Given the description of an element on the screen output the (x, y) to click on. 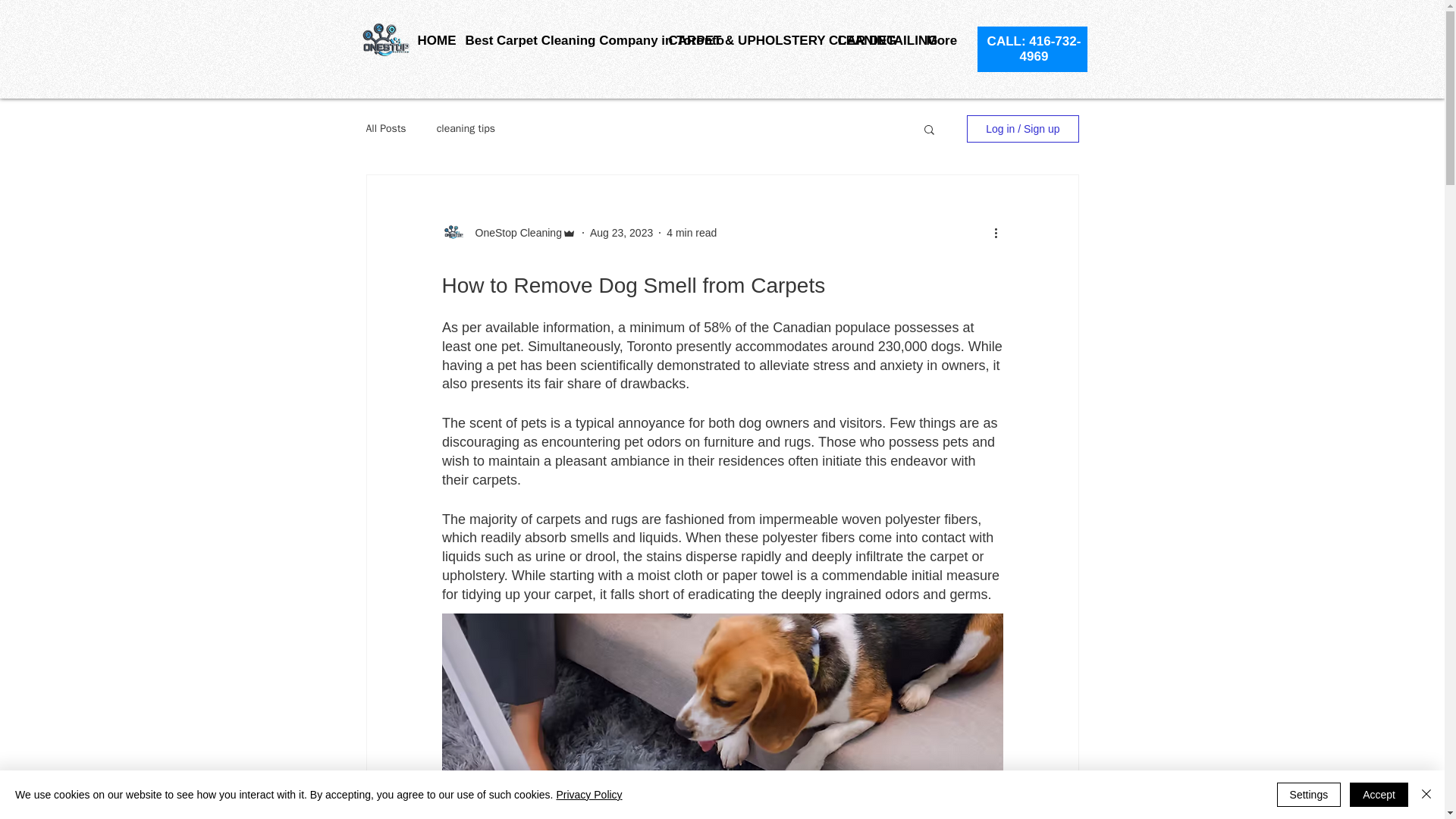
HOME (430, 40)
Best Carpet Cleaning Company in Toronto (554, 40)
CALL: 416-732-4969 (1034, 48)
Aug 23, 2023 (620, 232)
cleaning tips (465, 128)
All Posts (385, 128)
4 min read (691, 232)
CAR DETAILING (871, 40)
OneStop Cleaning (512, 232)
